Given the description of an element on the screen output the (x, y) to click on. 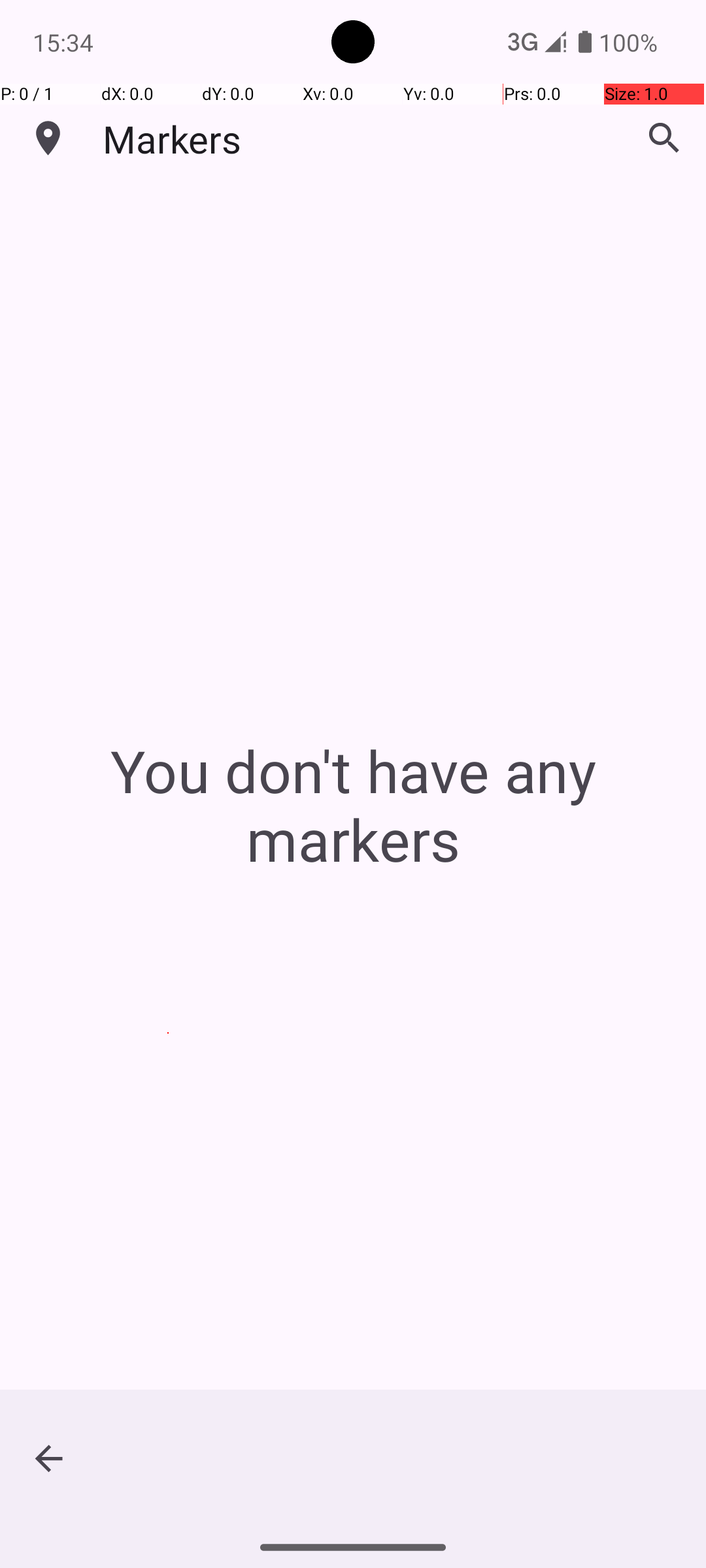
You don't have any markers Element type: android.widget.TextView (353, 805)
